Given the description of an element on the screen output the (x, y) to click on. 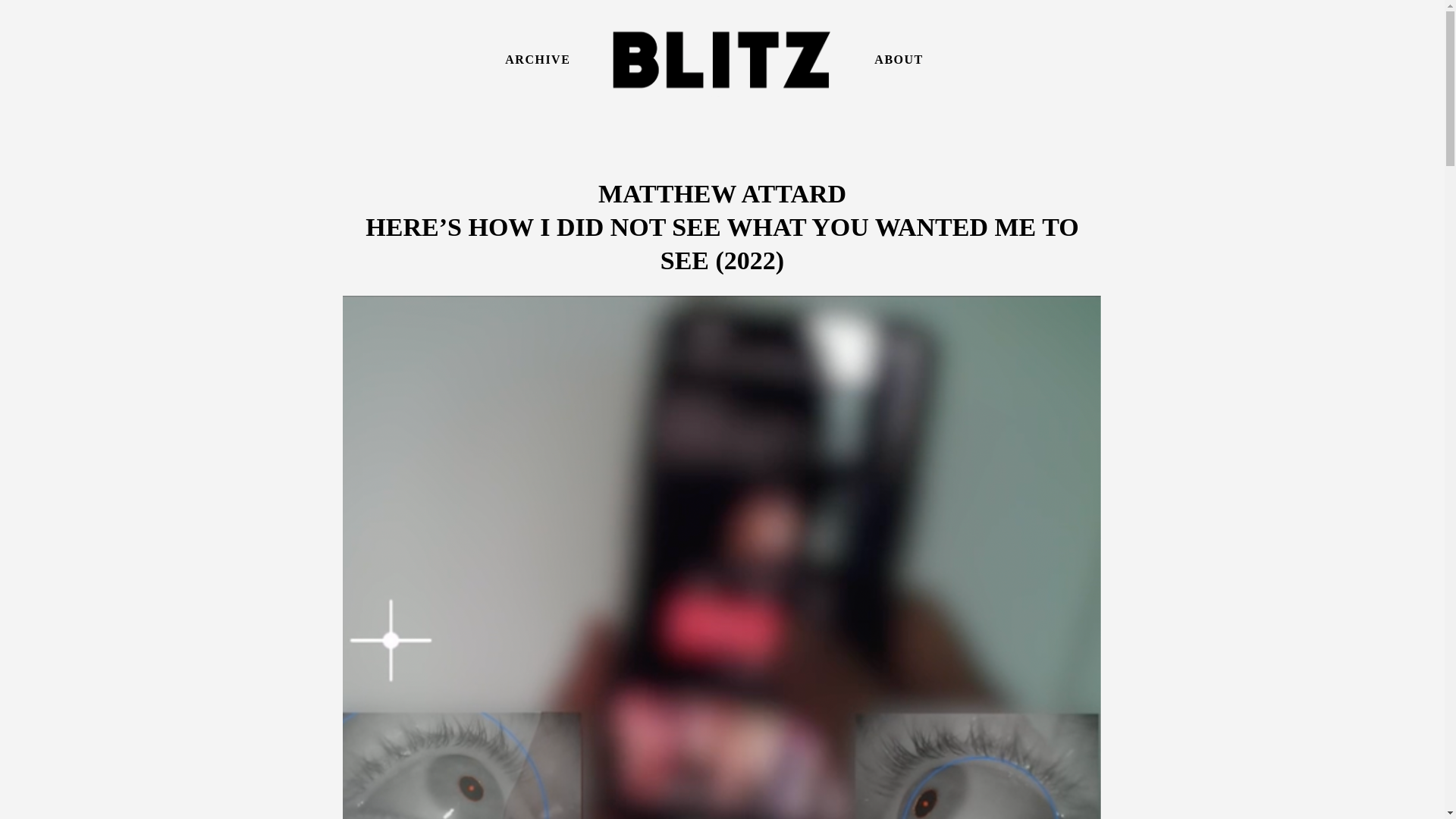
ABOUT (899, 58)
ARCHIVE (537, 58)
